Given the description of an element on the screen output the (x, y) to click on. 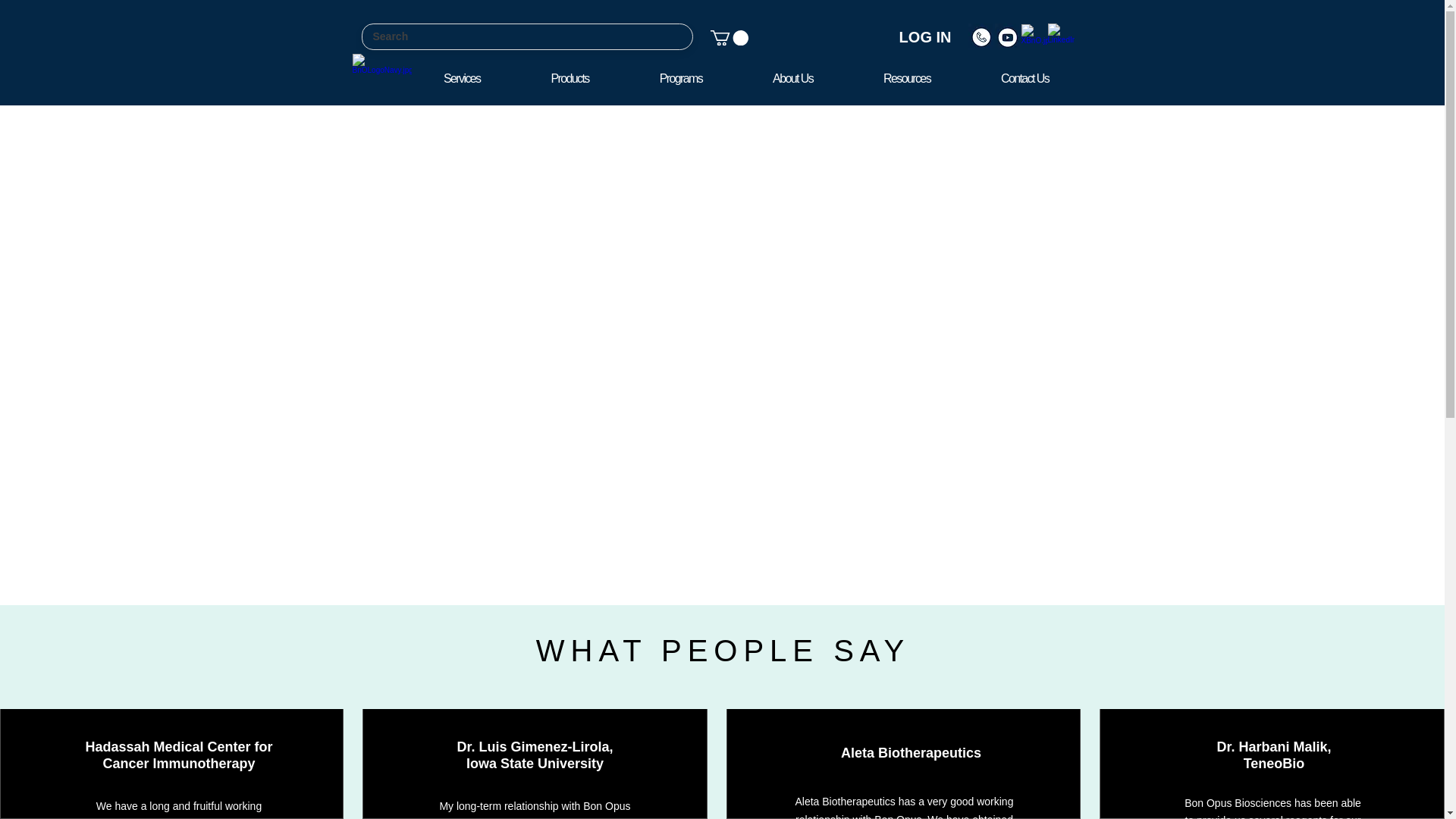
Services (461, 78)
Contact Us (745, 78)
Products (1025, 78)
LOG IN (569, 78)
Resources (925, 37)
